Given the description of an element on the screen output the (x, y) to click on. 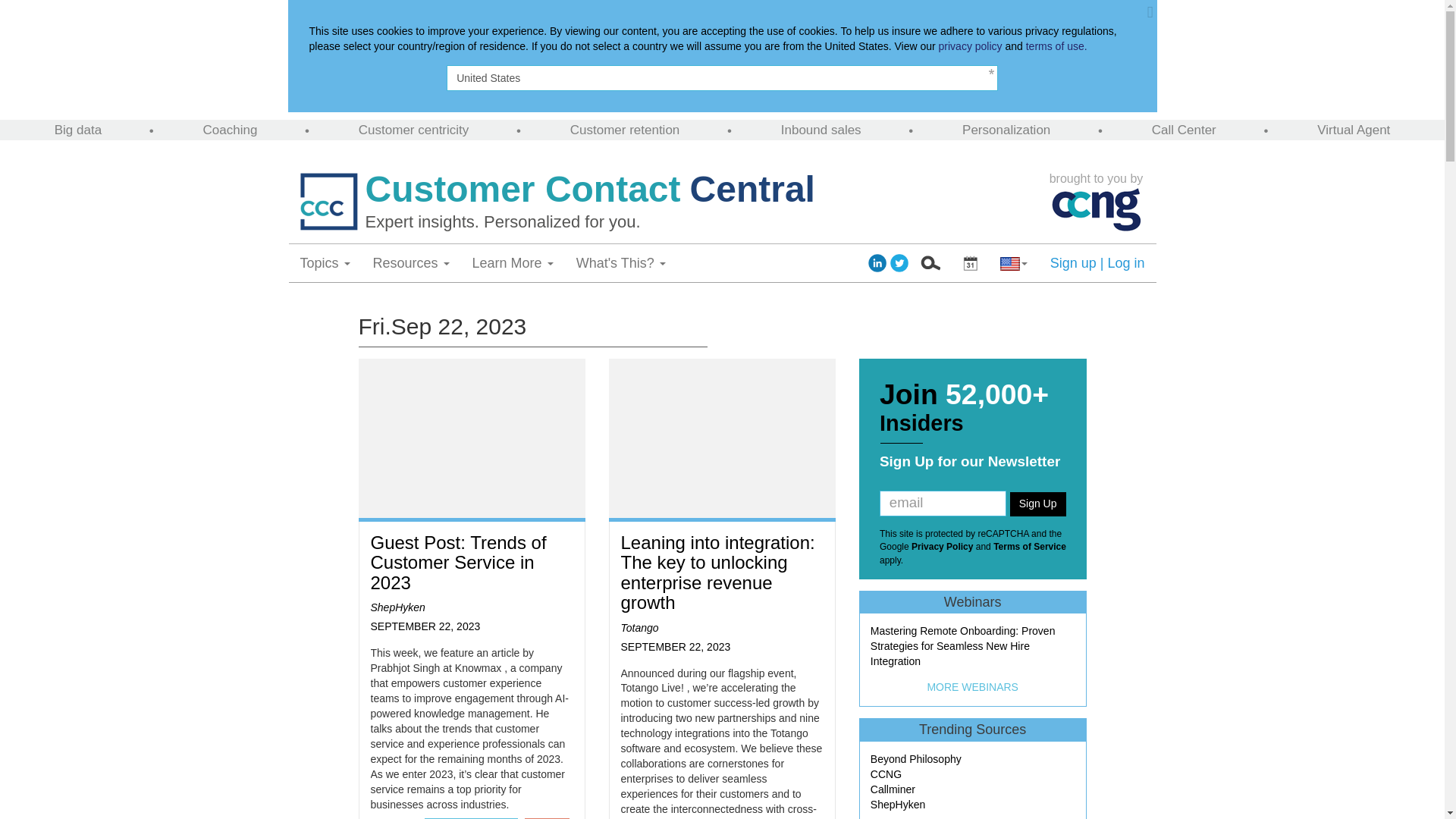
terms of use. (1056, 46)
Inbound sales (820, 129)
United States (721, 77)
Inbound sales (820, 129)
CCNG (1096, 209)
Customer retention (624, 129)
Call Center (1183, 129)
Customer Contact Central (703, 189)
Select edition (970, 262)
Search (930, 262)
